Given the description of an element on the screen output the (x, y) to click on. 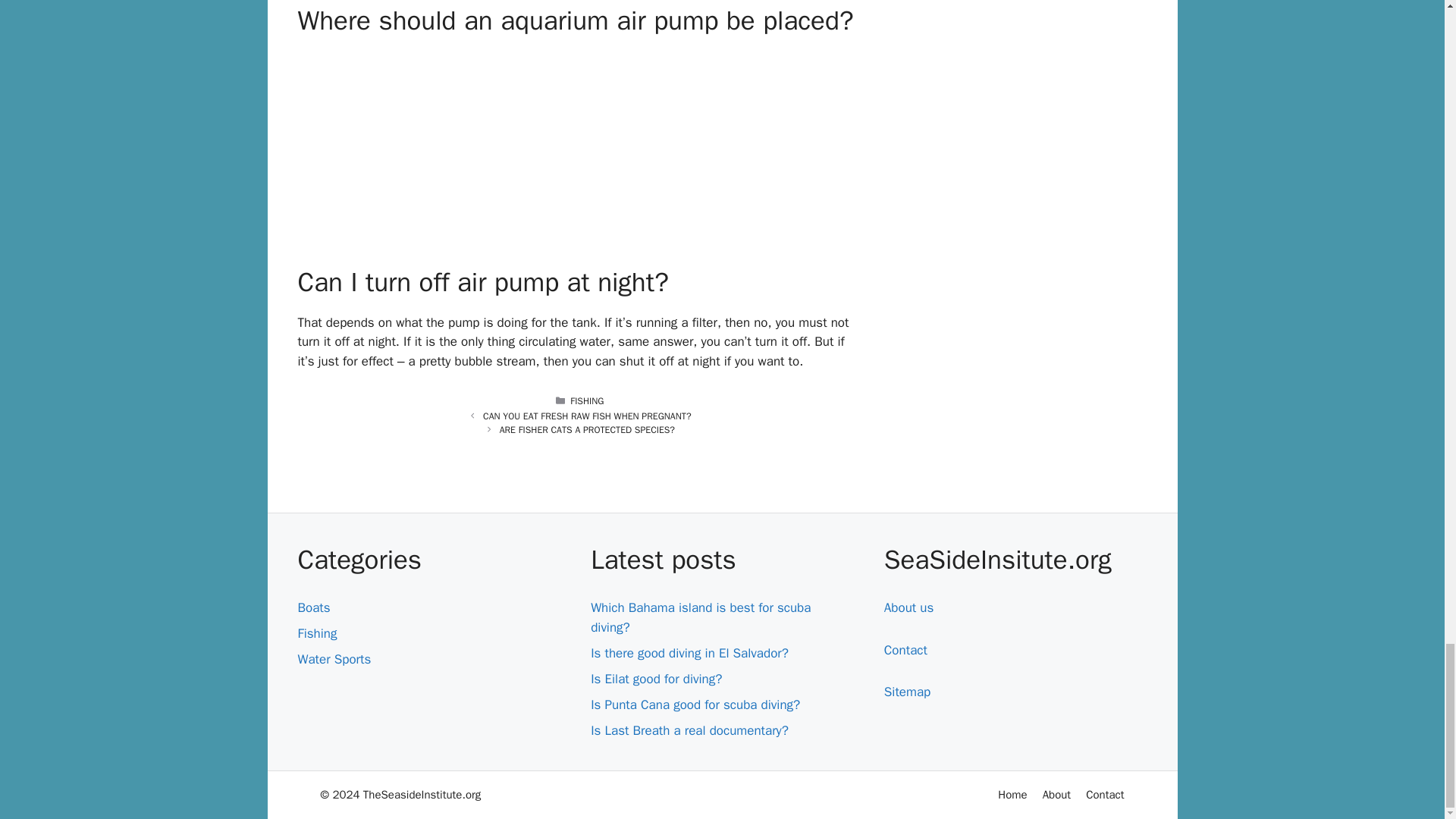
Fishing (316, 633)
Is there good diving in El Salvador? (690, 652)
FISHING (587, 400)
Is Eilat good for diving? (656, 678)
ARE FISHER CATS A PROTECTED SPECIES? (587, 429)
Where should an aquarium air pump be placed? (579, 145)
CAN YOU EAT FRESH RAW FISH WHEN PREGNANT? (586, 416)
Boats (313, 607)
Water Sports (334, 659)
Which Bahama island is best for scuba diving? (700, 617)
